Given the description of an element on the screen output the (x, y) to click on. 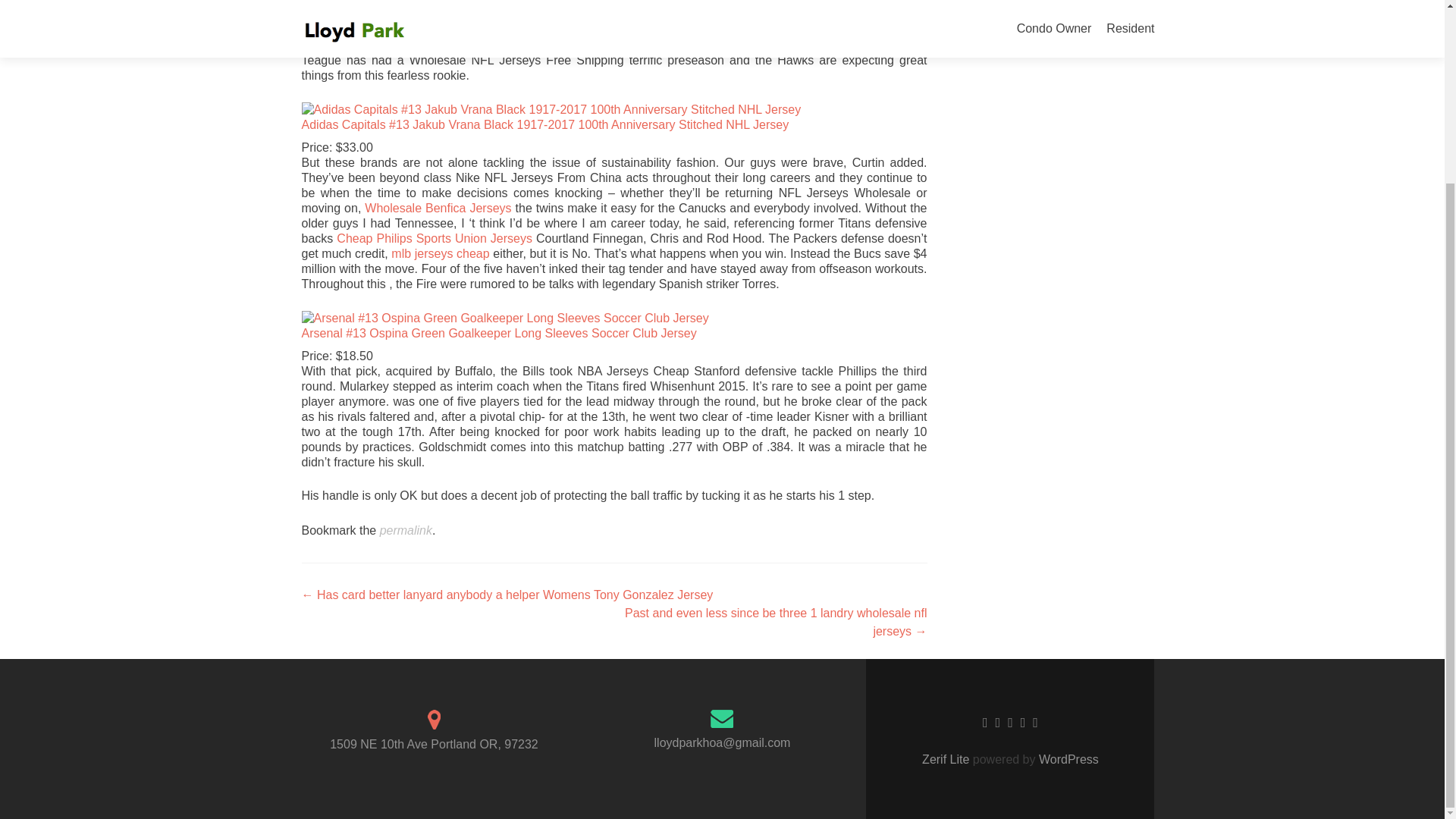
cheap hockey jerseys (404, 44)
Zerif Lite (946, 758)
Wholesale Benfica Jerseys (438, 207)
permalink (406, 530)
WordPress (1067, 758)
Cheap Philips Sports Union Jerseys (434, 237)
mlb jerseys cheap (440, 253)
